Given the description of an element on the screen output the (x, y) to click on. 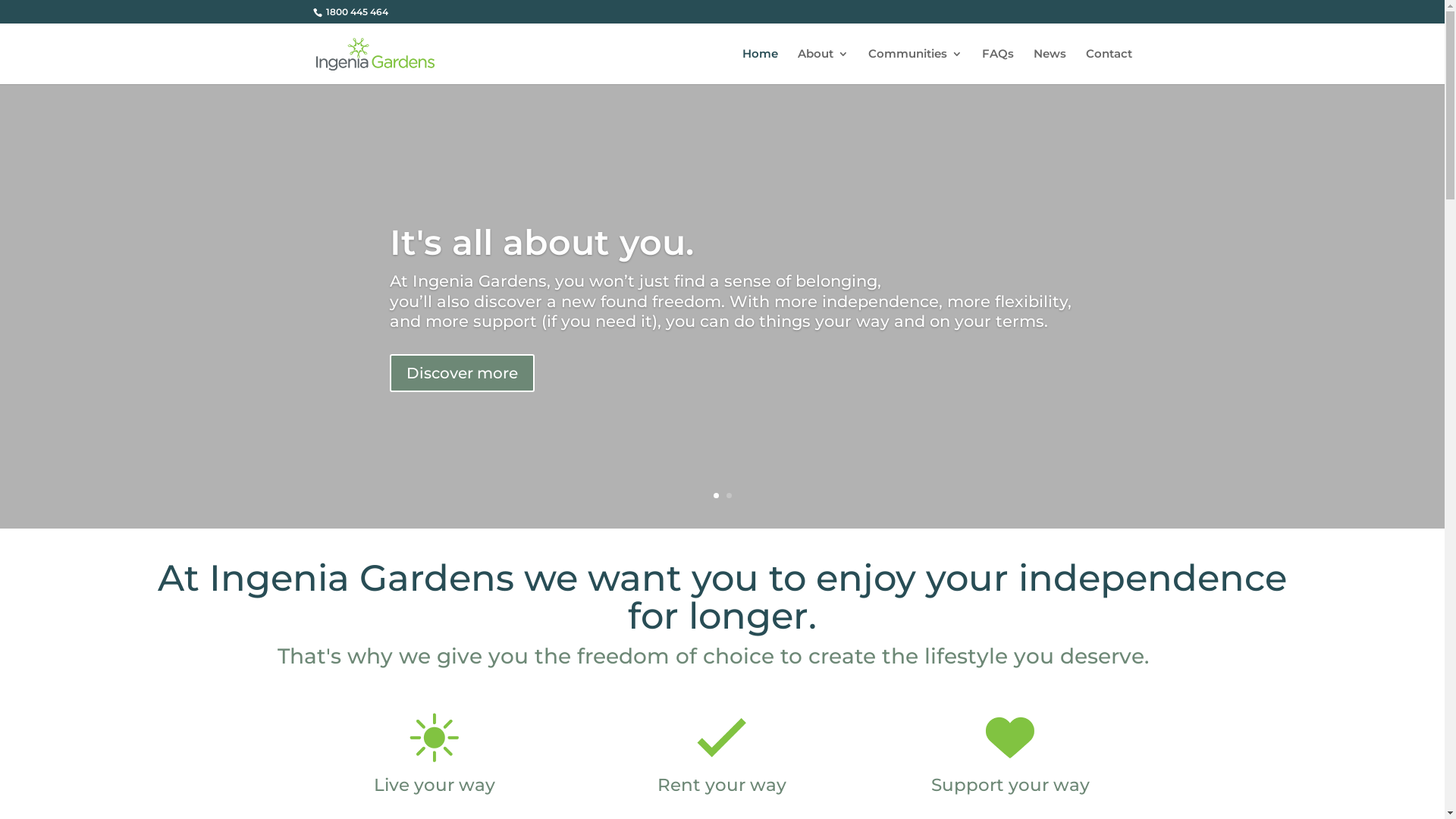
1 Element type: text (715, 495)
Contact Element type: text (1108, 66)
News Element type: text (1048, 66)
It's all about you. Element type: text (541, 241)
Discover more Element type: text (461, 373)
1800 445 464 Element type: text (355, 11)
About Element type: text (822, 66)
FAQs Element type: text (997, 66)
Communities Element type: text (914, 66)
2 Element type: text (728, 495)
Home Element type: text (759, 66)
